Given the description of an element on the screen output the (x, y) to click on. 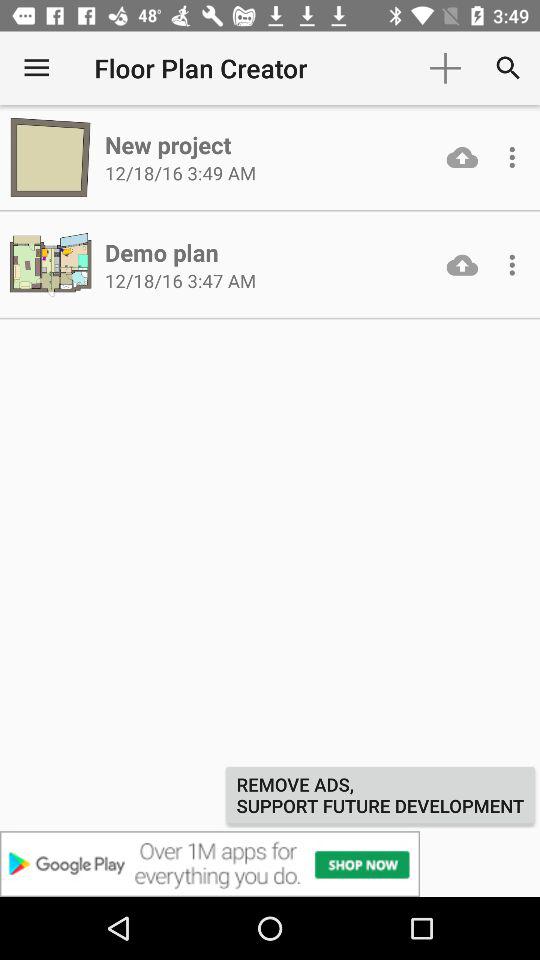
upload new project (462, 157)
